Given the description of an element on the screen output the (x, y) to click on. 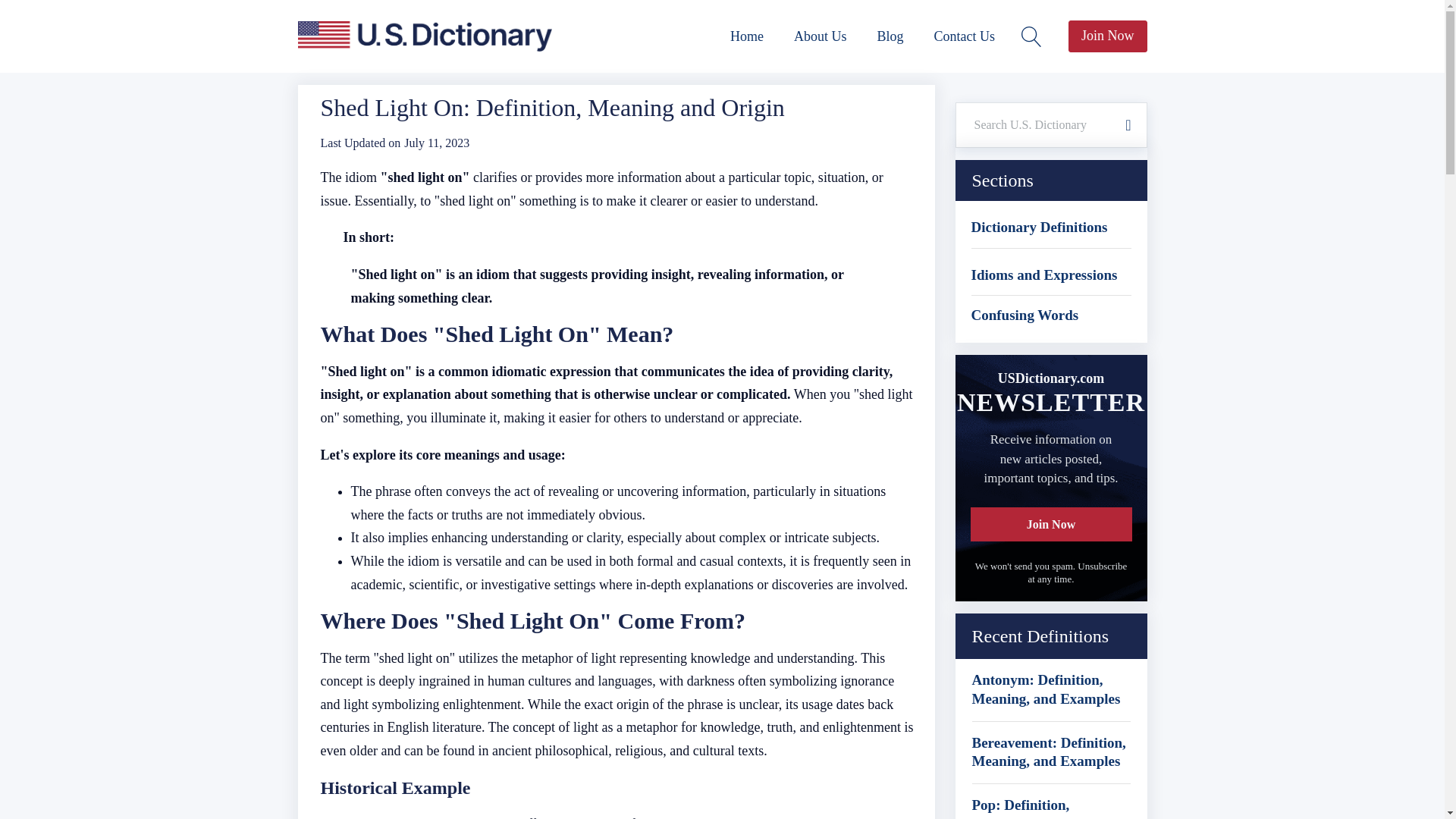
Home (746, 35)
Join Now (1107, 35)
About Us (819, 35)
Dictionary Definitions (1038, 228)
Contact Us (964, 35)
Blog (889, 35)
